Given the description of an element on the screen output the (x, y) to click on. 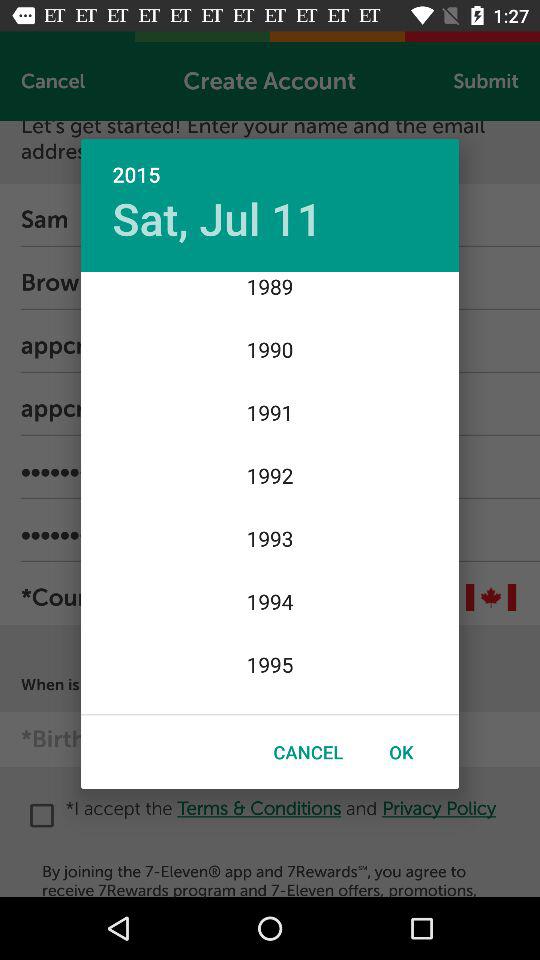
turn off icon below 2015 icon (217, 218)
